Given the description of an element on the screen output the (x, y) to click on. 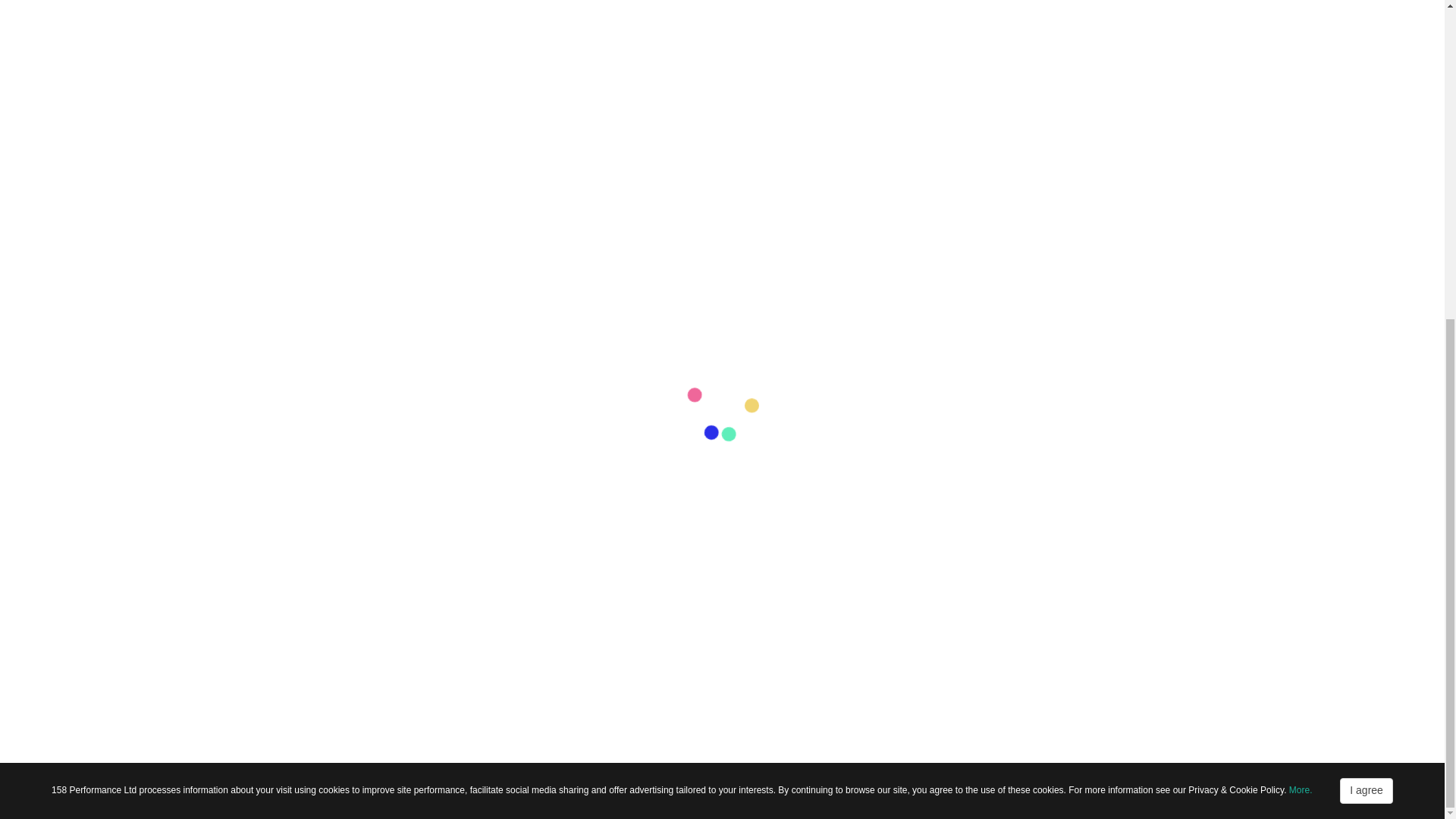
I agree (1366, 274)
More. (1300, 273)
